Given the description of an element on the screen output the (x, y) to click on. 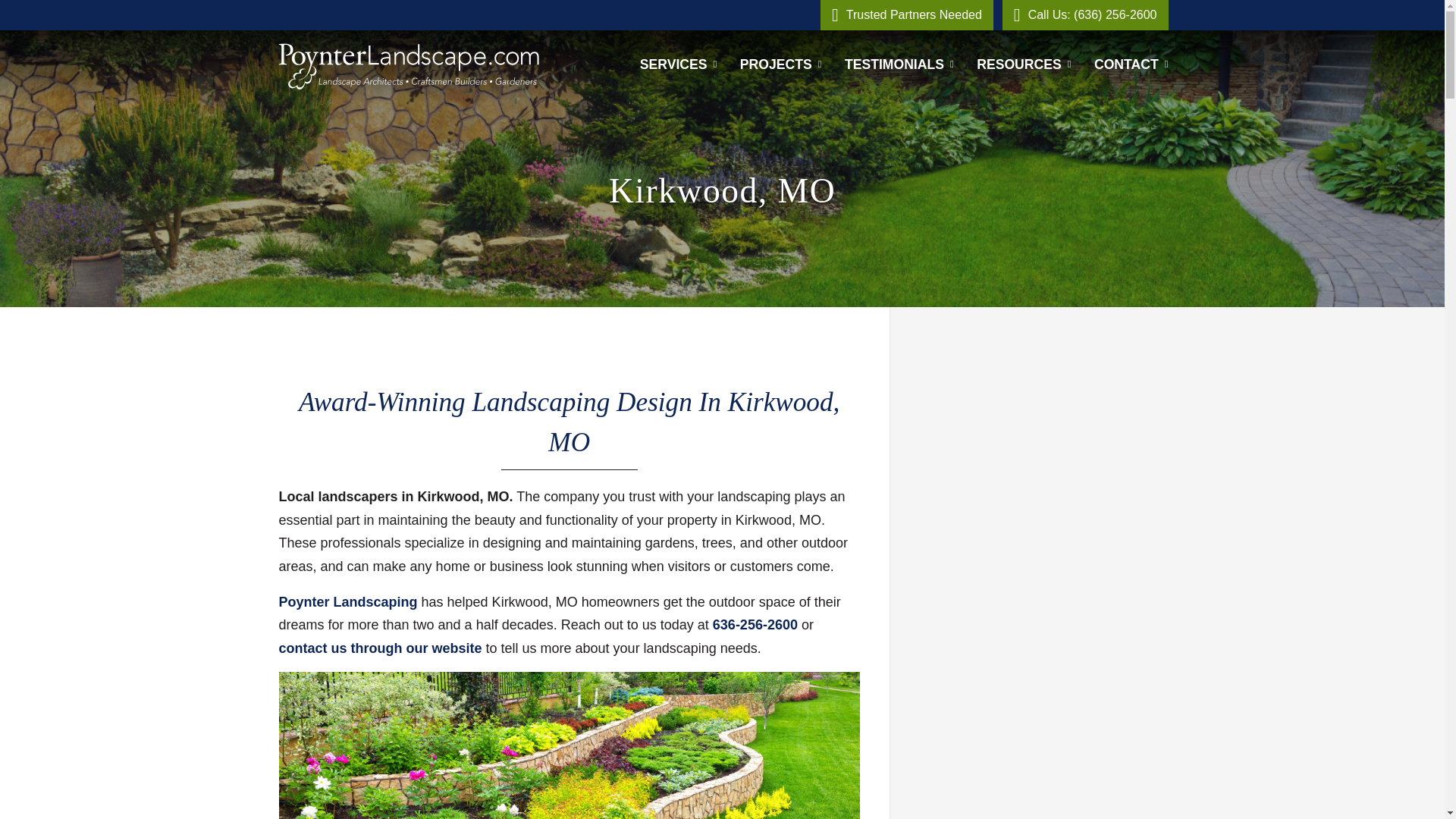
SERVICES (678, 64)
Trusted Partners Needed (906, 15)
PROJECTS (780, 64)
